Given the description of an element on the screen output the (x, y) to click on. 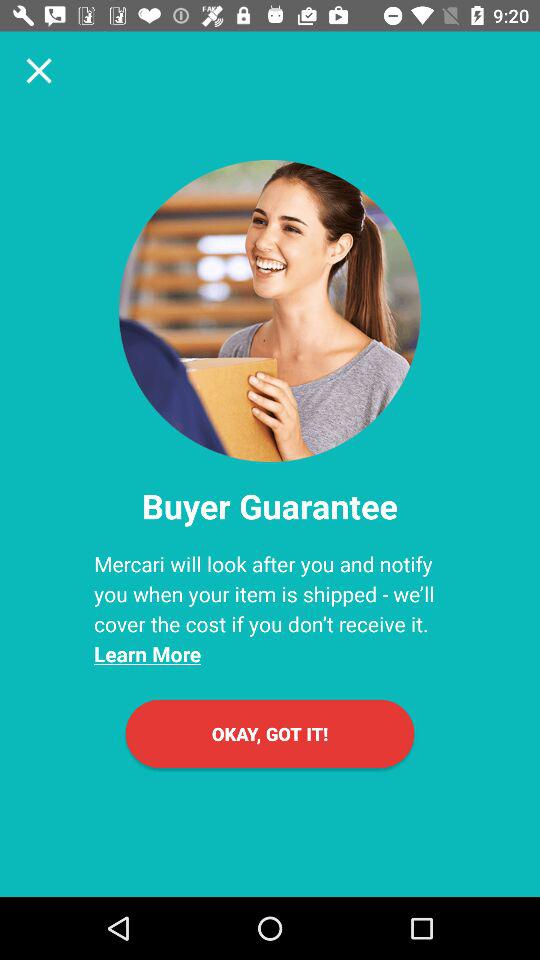
tap icon above the okay, got it! (269, 608)
